Given the description of an element on the screen output the (x, y) to click on. 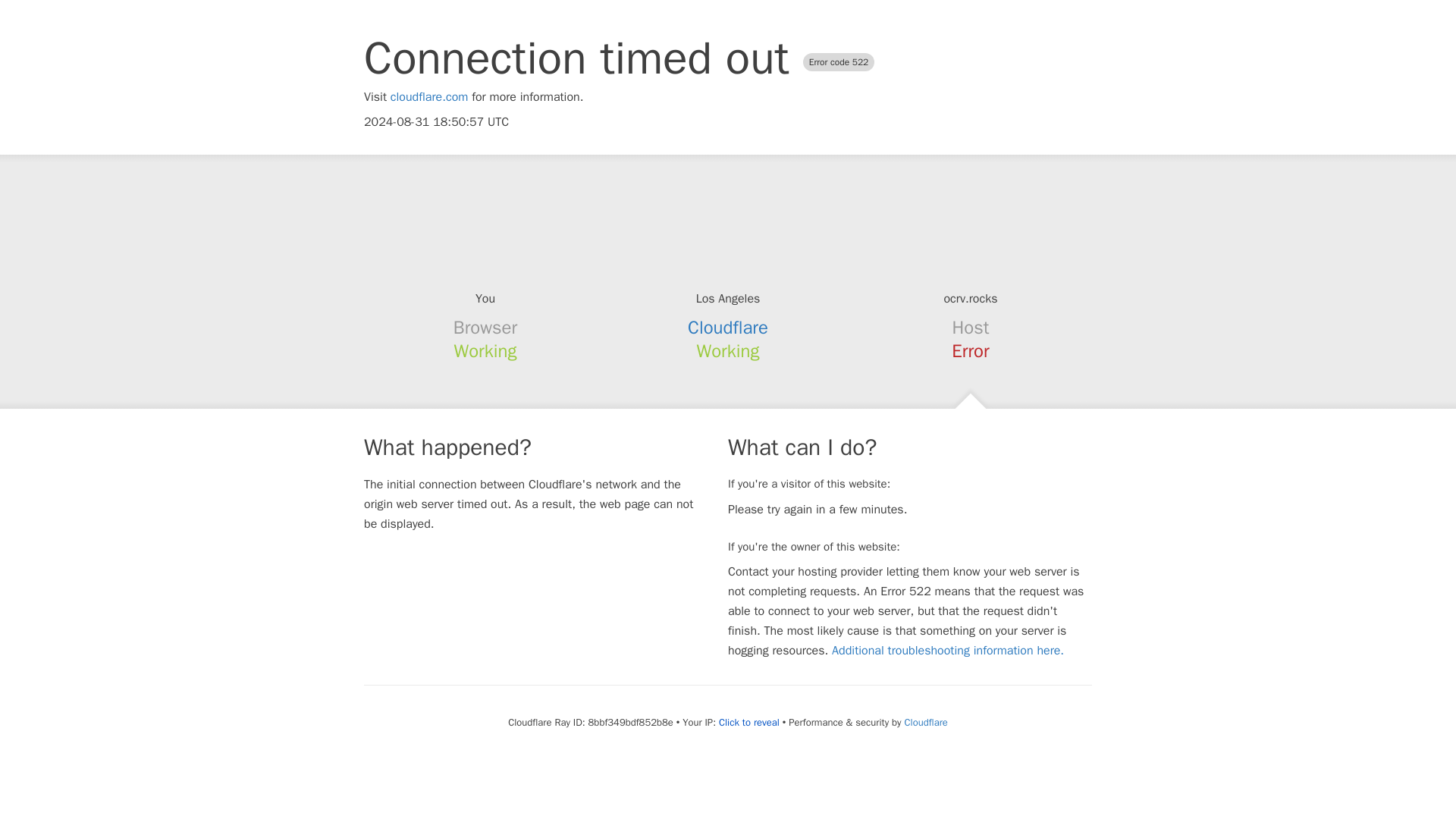
Click to reveal (748, 722)
Cloudflare (925, 721)
Additional troubleshooting information here. (947, 650)
cloudflare.com (429, 96)
Cloudflare (727, 327)
